Given the description of an element on the screen output the (x, y) to click on. 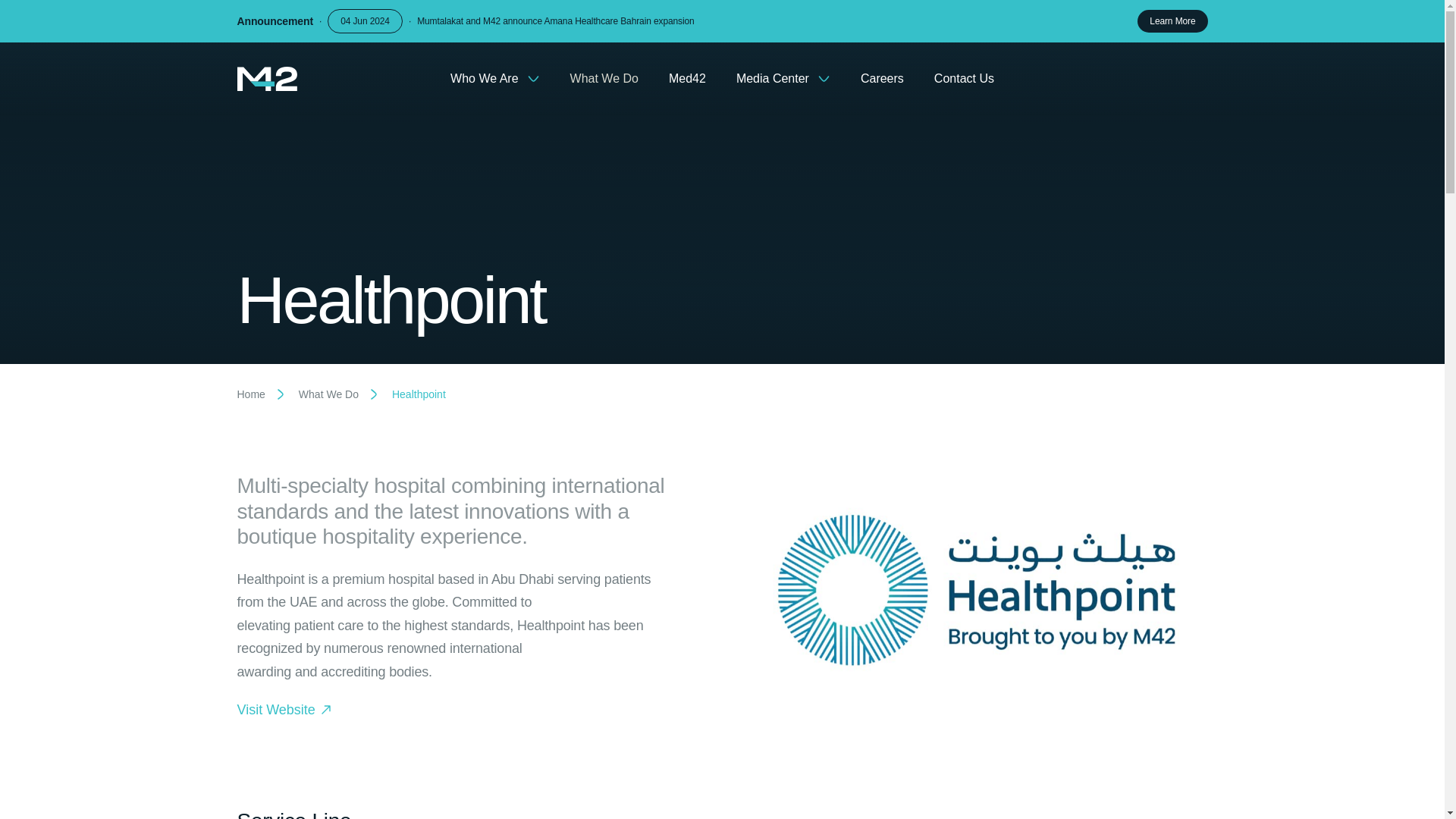
Learn More (1172, 20)
Media Center (782, 78)
Who We Are (494, 78)
Visit Website (457, 709)
Med42 (687, 78)
Careers (882, 78)
What We Do (604, 78)
Home (249, 394)
Contact Us (964, 78)
What We Do (328, 394)
Healthpoint (624, 299)
